Given the description of an element on the screen output the (x, y) to click on. 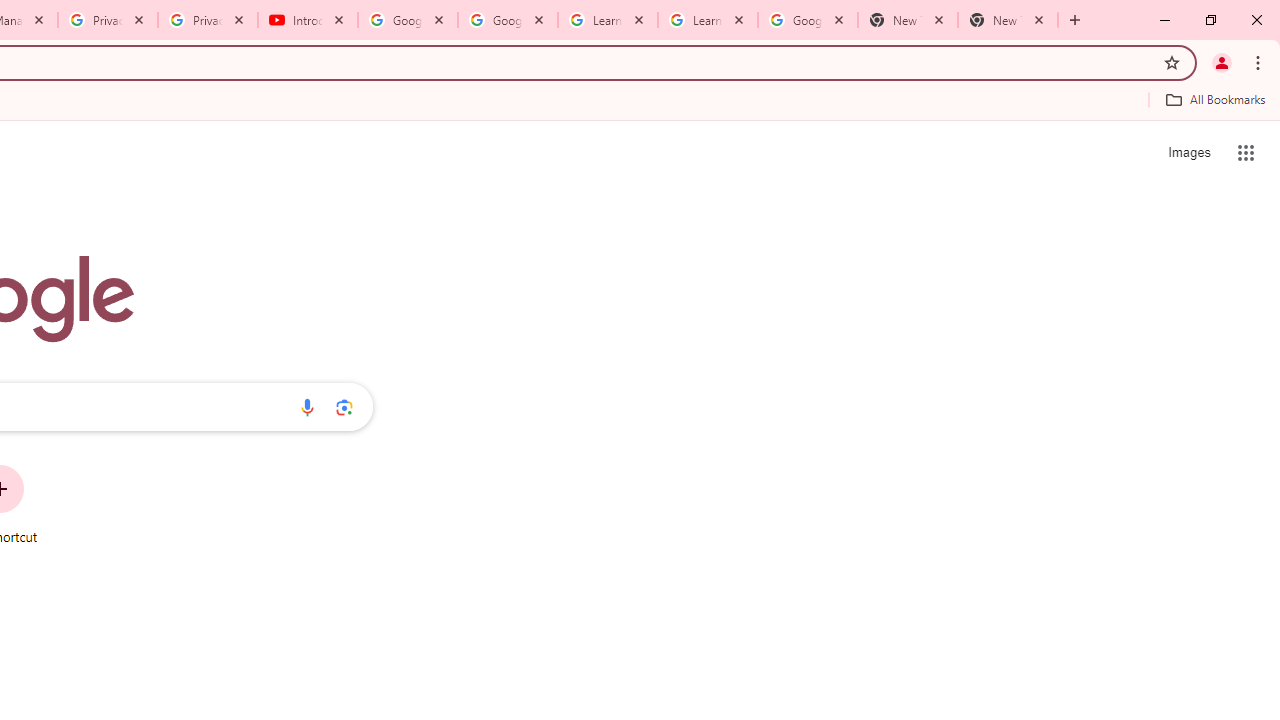
Google Account (807, 20)
New Tab (907, 20)
Introduction | Google Privacy Policy - YouTube (308, 20)
